Given the description of an element on the screen output the (x, y) to click on. 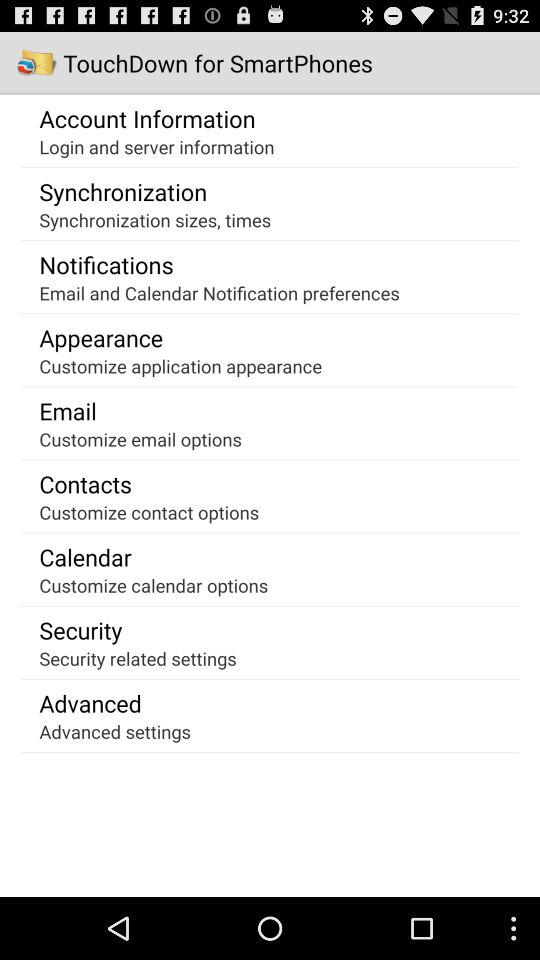
click the item below synchronization sizes, times (106, 264)
